Given the description of an element on the screen output the (x, y) to click on. 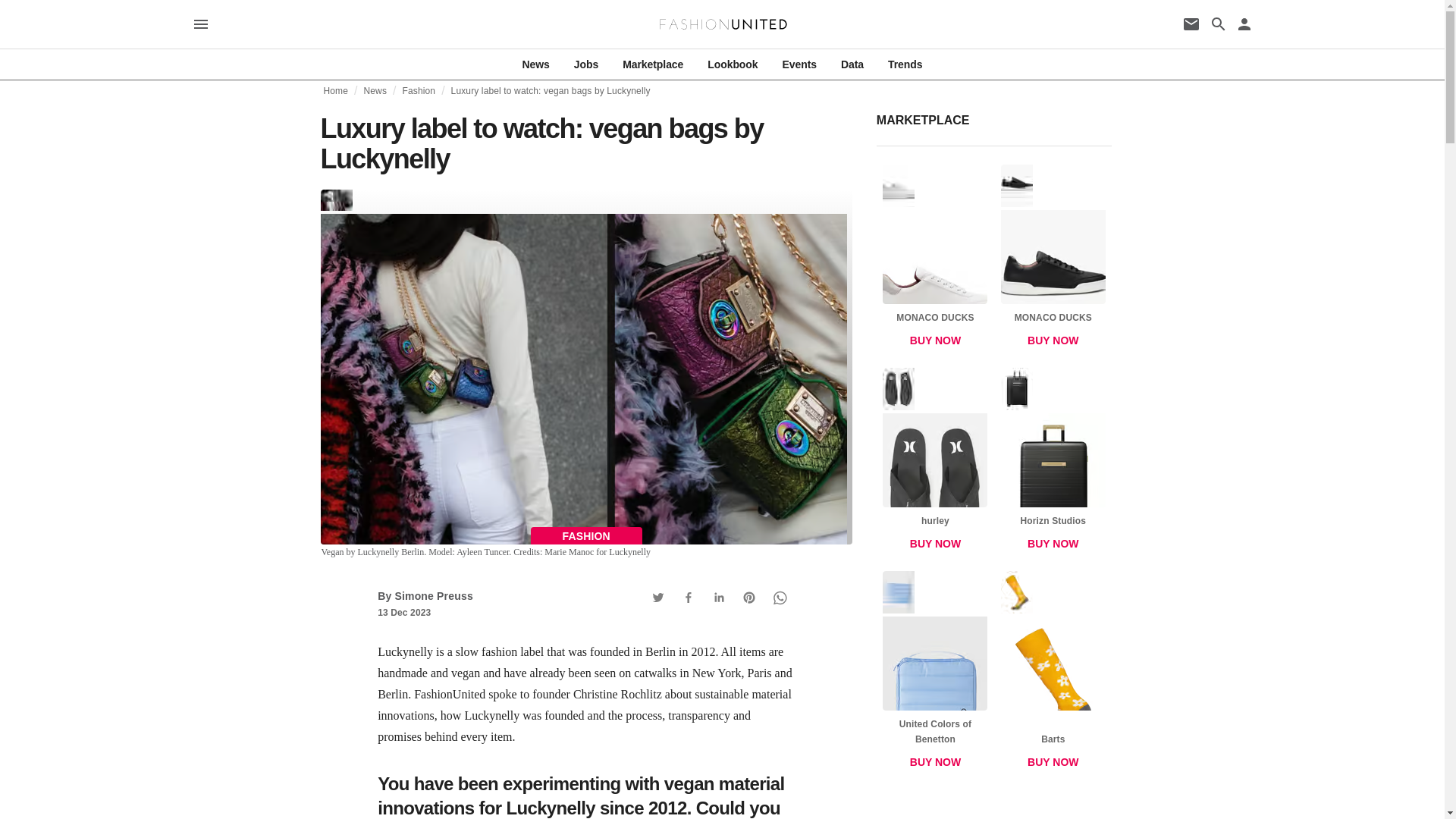
BUY NOW (1053, 761)
Fashion (418, 90)
Jobs (586, 64)
BUY NOW (1053, 543)
Home (335, 90)
By Simone Preuss (425, 595)
Events (799, 64)
Trends (905, 64)
Marketplace (652, 64)
Lookbook (732, 64)
News (536, 64)
BUY NOW (935, 543)
BUY NOW (935, 761)
Luxury label to watch: vegan bags by Luckynelly (550, 90)
News (375, 90)
